Given the description of an element on the screen output the (x, y) to click on. 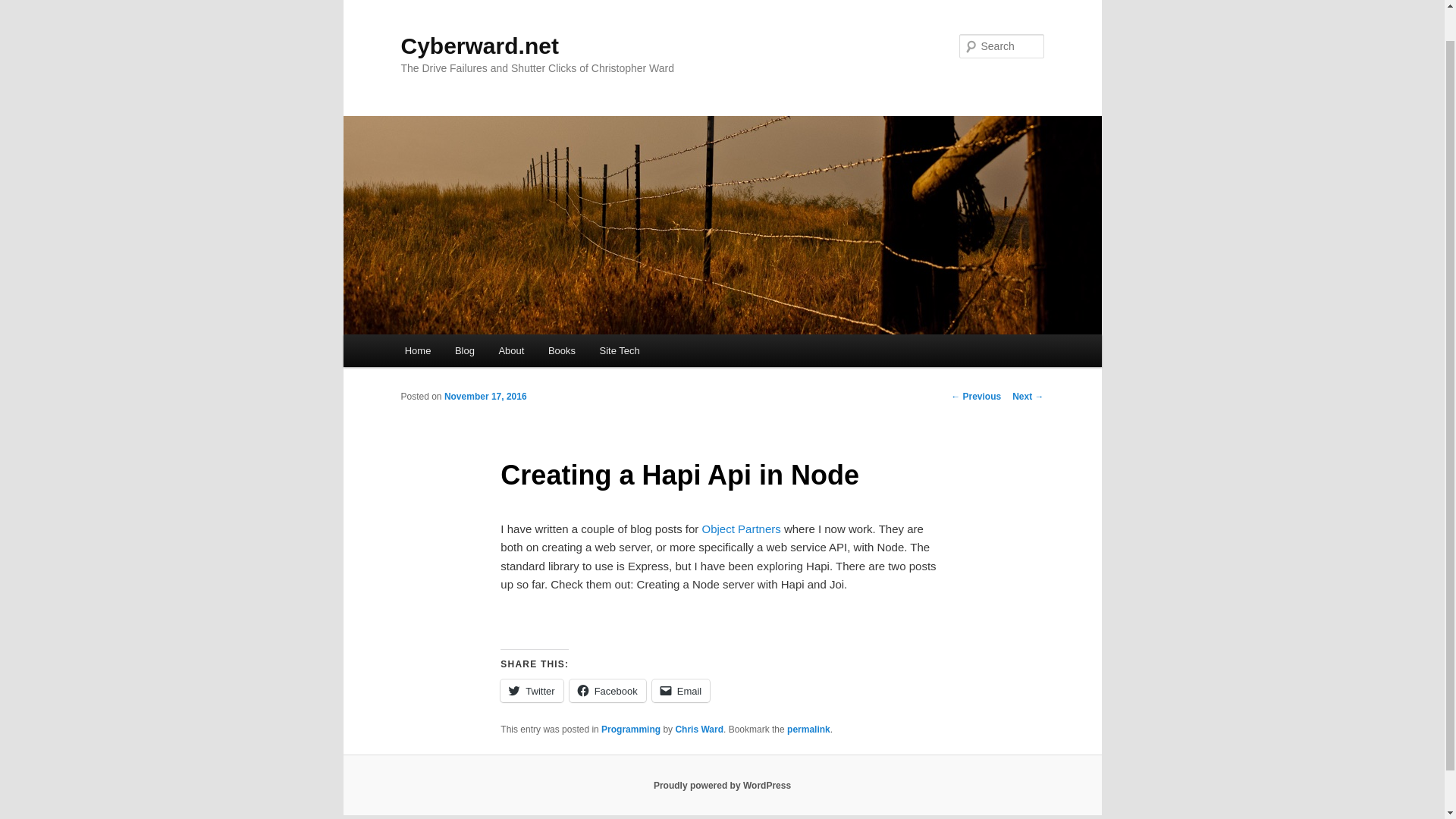
Email (681, 690)
Permalink to Creating a Hapi Api in Node (808, 728)
About (510, 350)
Books (561, 350)
Programming (631, 728)
Cyberward.net (478, 45)
Click to email a link to a friend (681, 690)
Chris Ward (699, 728)
Twitter (531, 690)
Home (417, 350)
Object Partners (740, 528)
Click to share on Twitter (531, 690)
Site Tech (620, 350)
Click to share on Facebook (607, 690)
Semantic Personal Publishing Platform (721, 785)
